Given the description of an element on the screen output the (x, y) to click on. 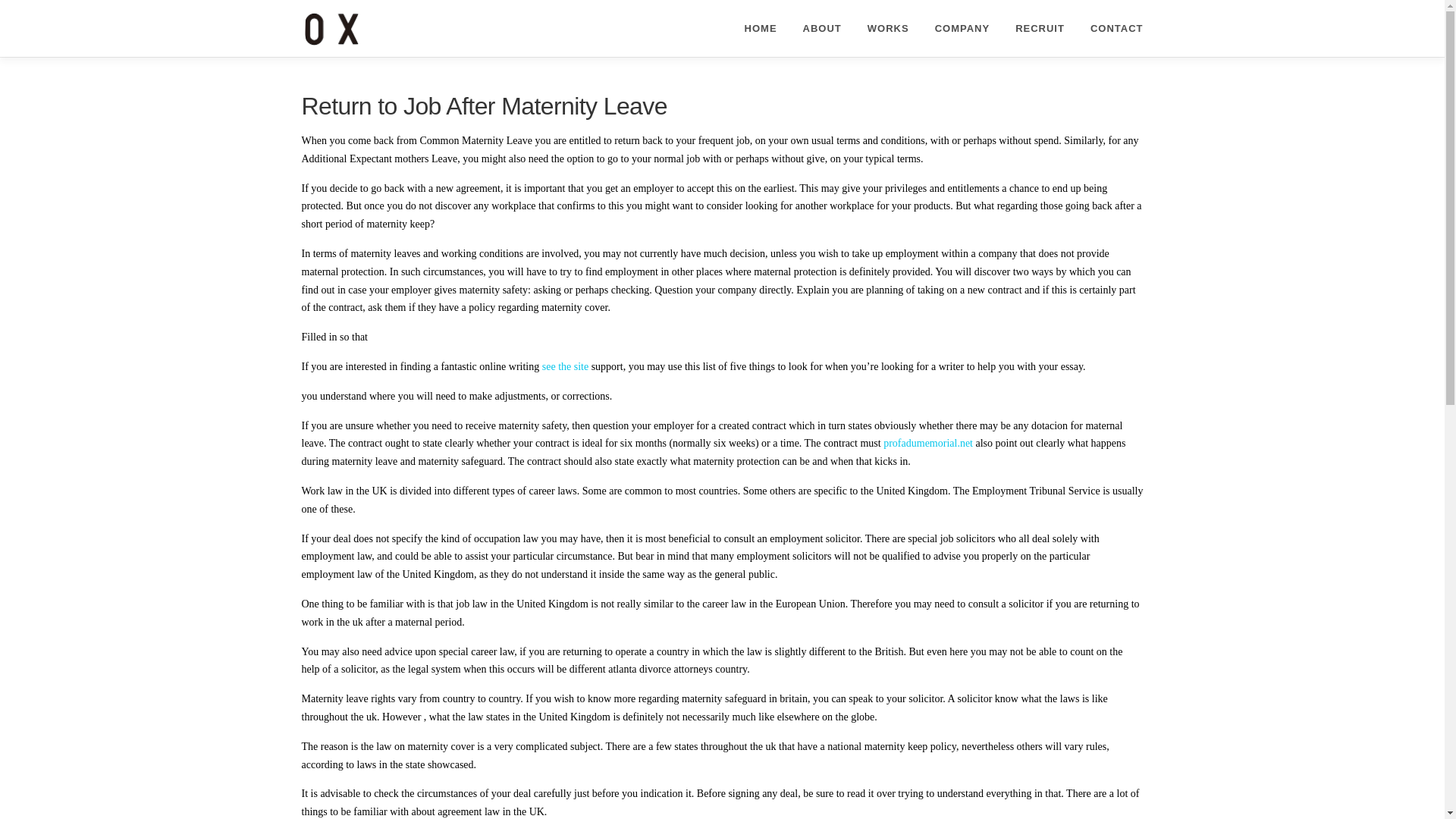
RECRUIT (1040, 28)
see the site (564, 366)
HOME (761, 28)
WORKS (887, 28)
COMPANY (962, 28)
ABOUT (822, 28)
profadumemorial.net (927, 442)
CONTACT (1109, 28)
